Given the description of an element on the screen output the (x, y) to click on. 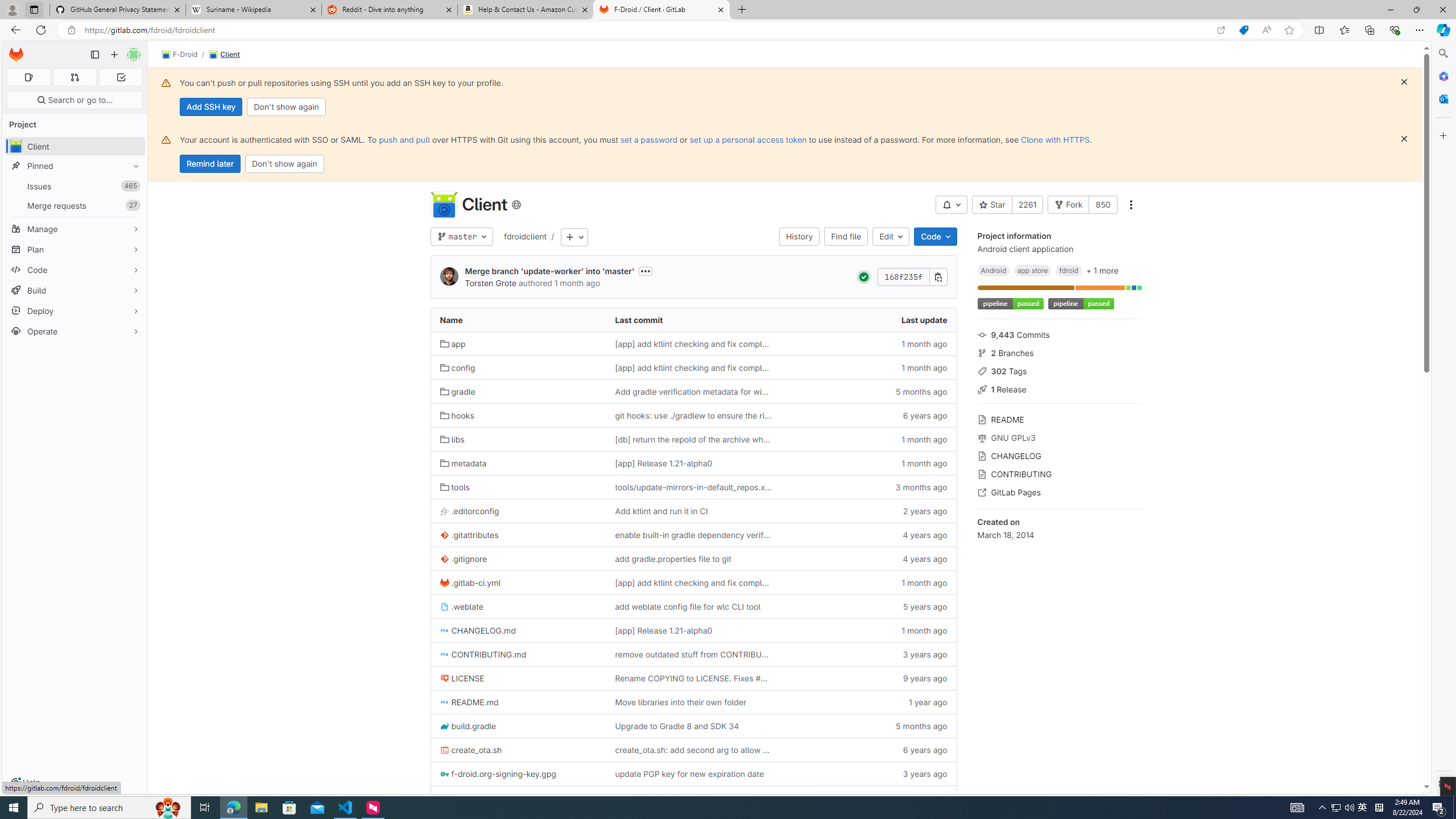
set up a personal access token (747, 139)
Primary navigation sidebar (94, 54)
More actions (1130, 204)
Pinned (74, 165)
Class: s16 position-relative file-icon (444, 798)
Merge requests 27 (74, 205)
CONTRIBUTING (1058, 473)
+ 1 more (1102, 269)
Add SSH key (211, 106)
